Given the description of an element on the screen output the (x, y) to click on. 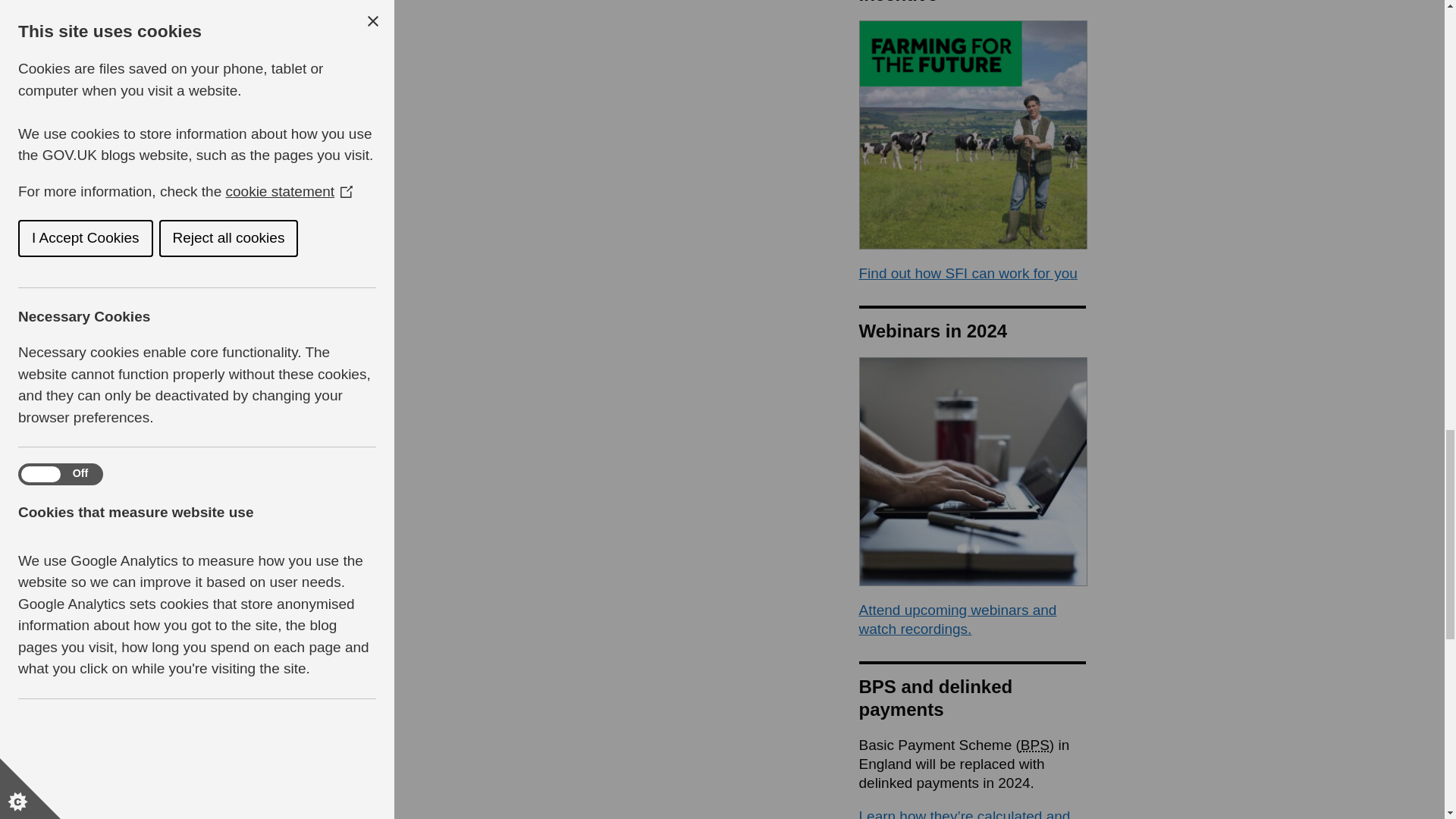
Attend upcoming webinars and watch recordings. (958, 619)
Find out how SFI can work for you (968, 273)
Basic Payment Scheme (1034, 744)
